Given the description of an element on the screen output the (x, y) to click on. 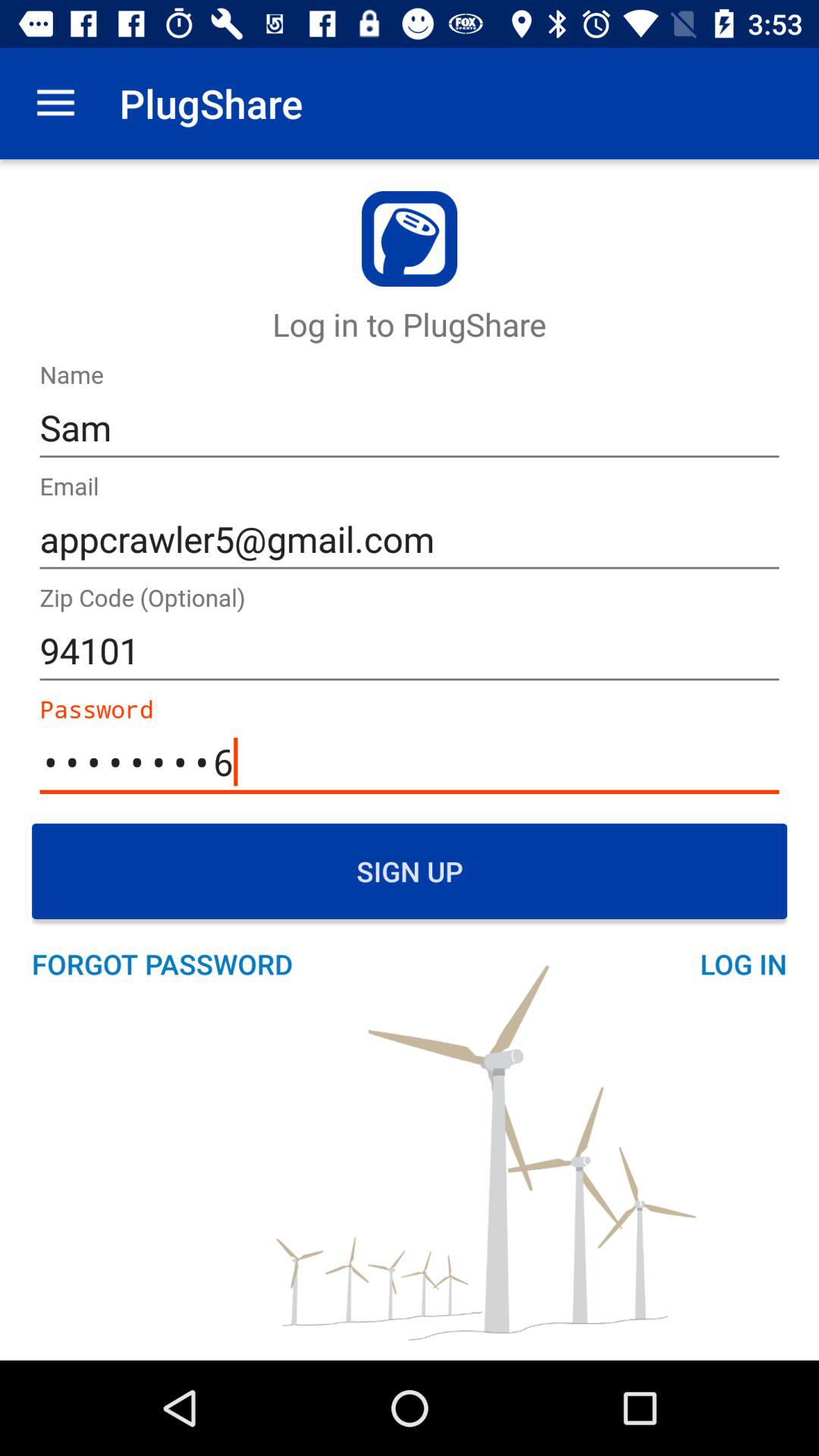
turn on sign up icon (409, 871)
